Given the description of an element on the screen output the (x, y) to click on. 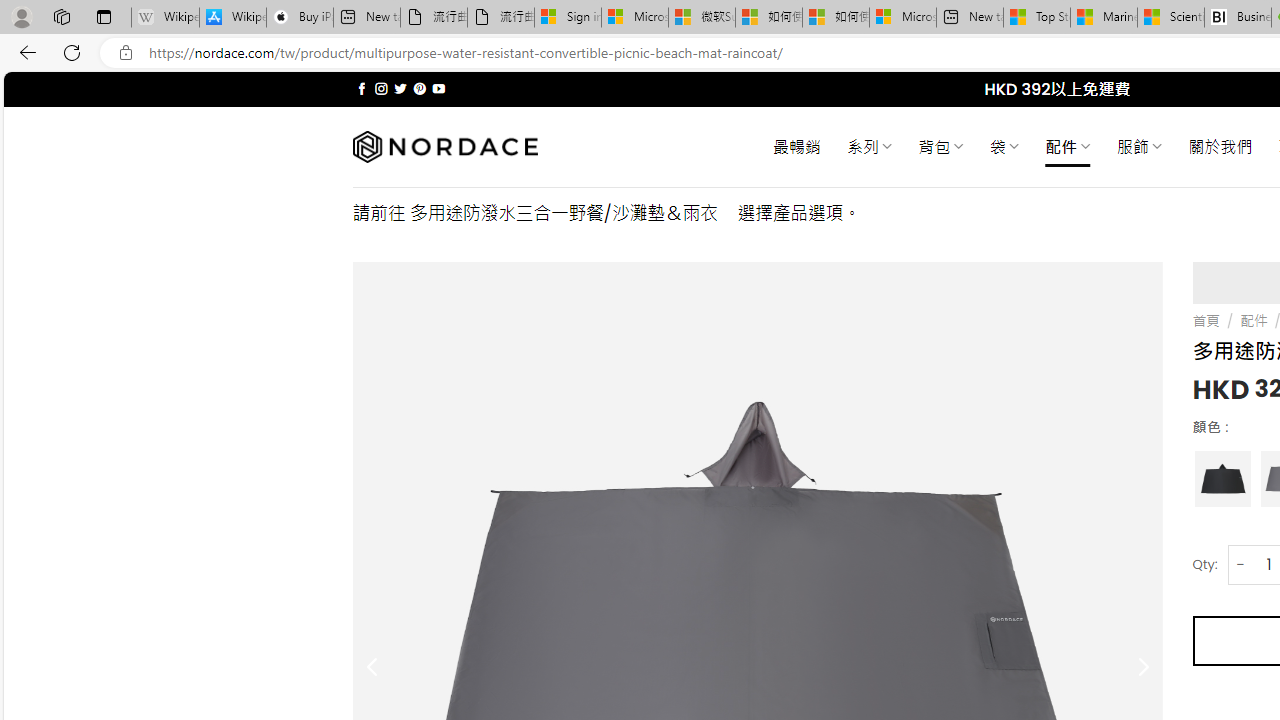
- (1240, 564)
